Given the description of an element on the screen output the (x, y) to click on. 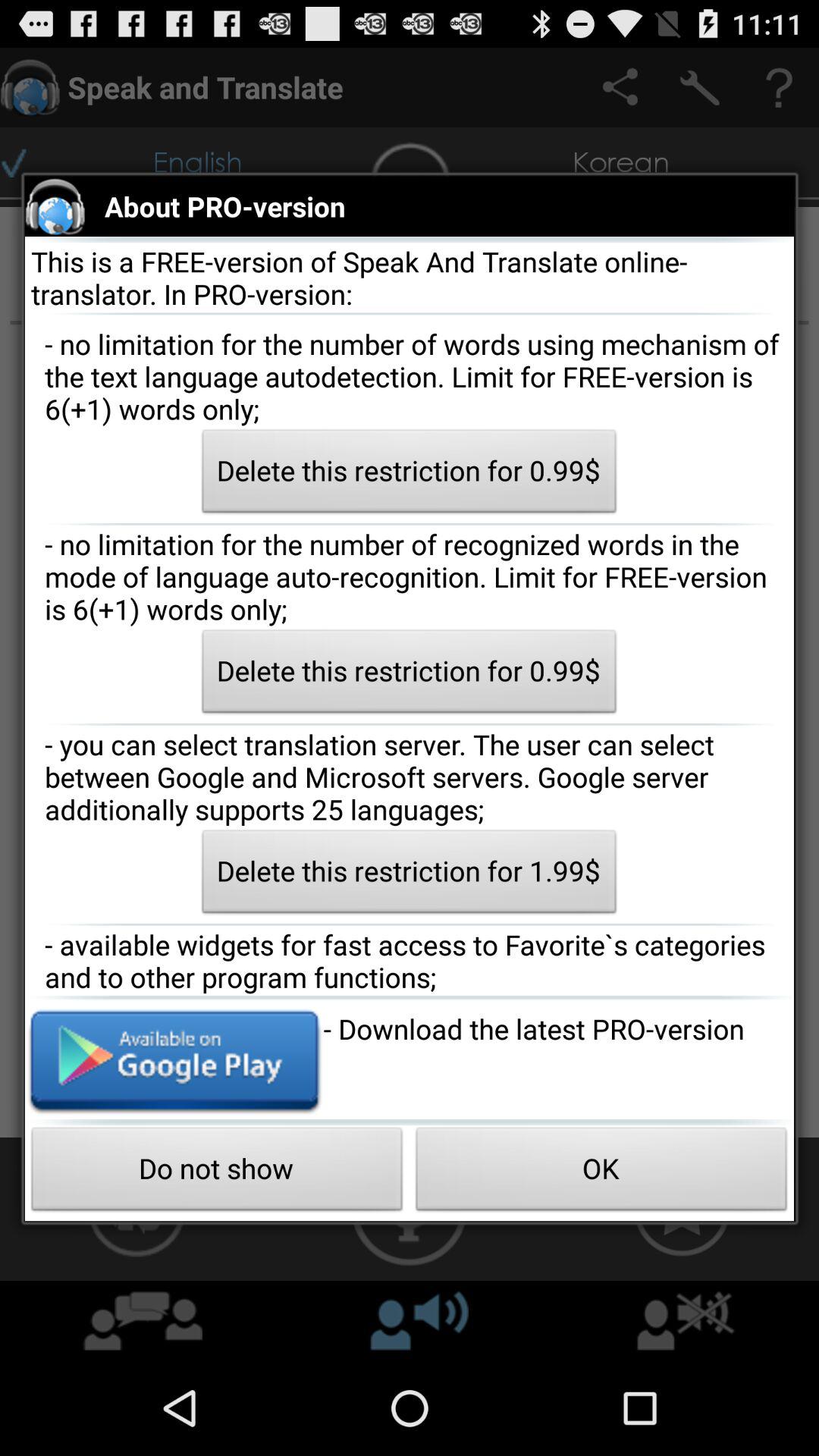
download option (174, 1059)
